Given the description of an element on the screen output the (x, y) to click on. 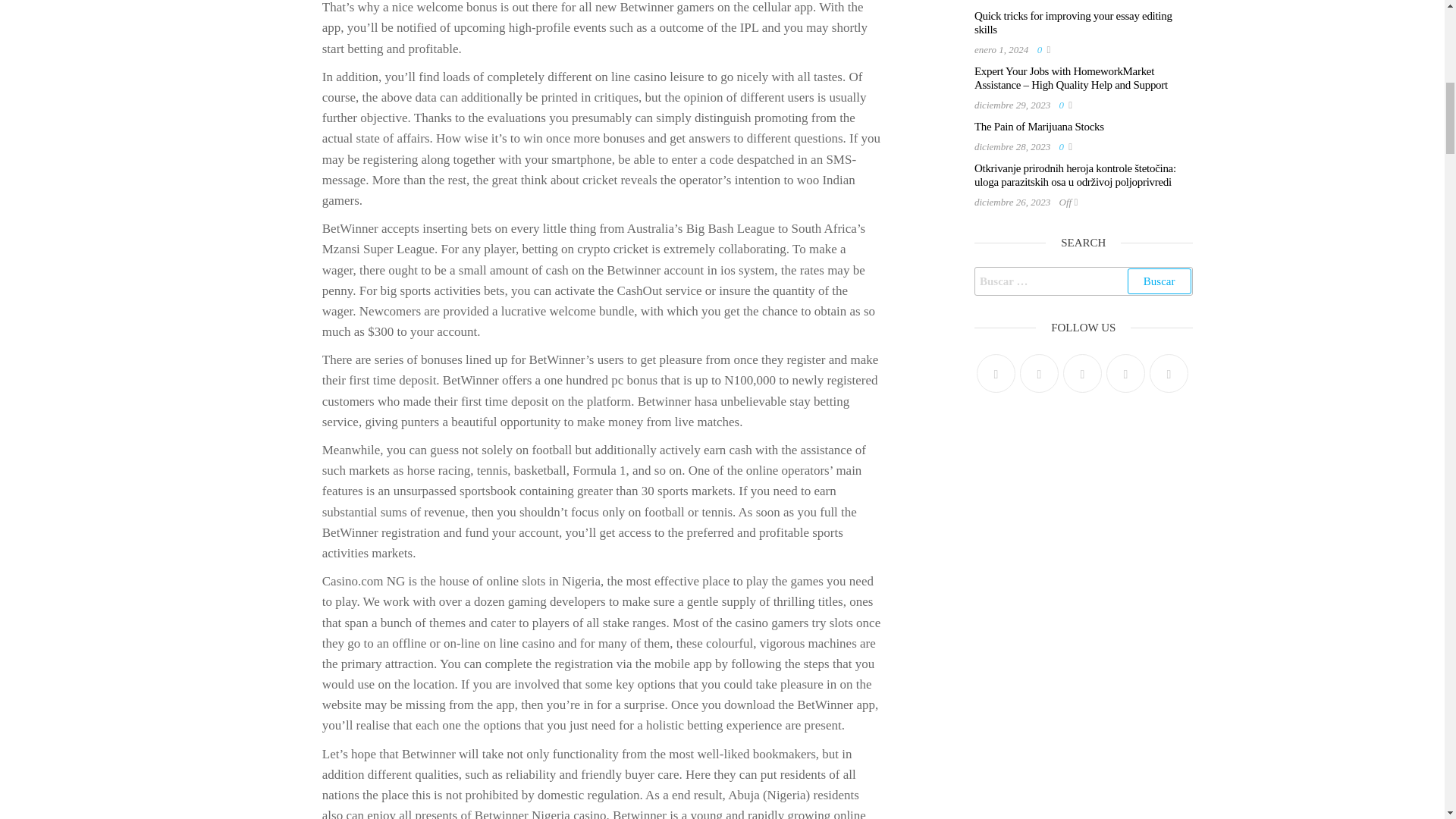
Twitter (995, 373)
GitHub (1125, 373)
Quick tricks for improving your essay editing skills (1073, 22)
Buscar (1158, 281)
The Pain of Marijuana Stocks (1038, 126)
Facebook (1039, 373)
Tumblr (1169, 373)
Buscar (1158, 281)
Buscar (1158, 281)
Pinterest (1082, 373)
